Given the description of an element on the screen output the (x, y) to click on. 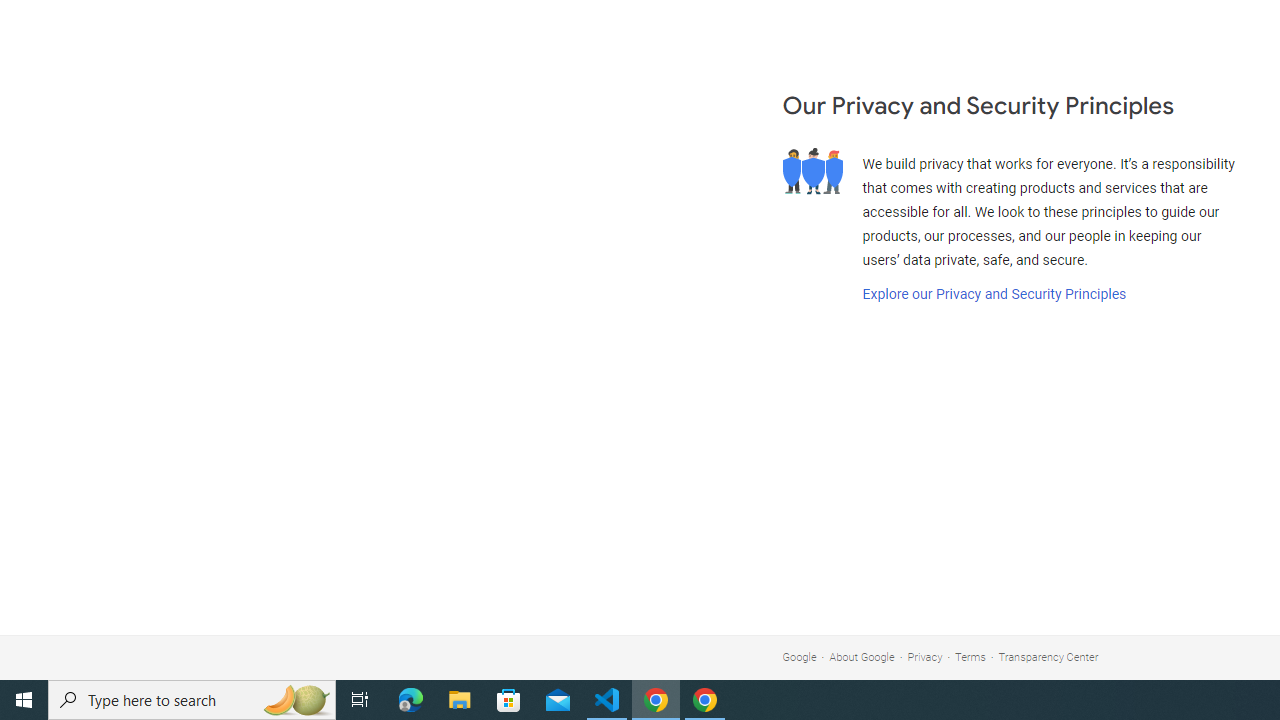
About Google (861, 656)
Transparency Center (1048, 656)
Explore our Privacy and Security Principles (993, 294)
